Given the description of an element on the screen output the (x, y) to click on. 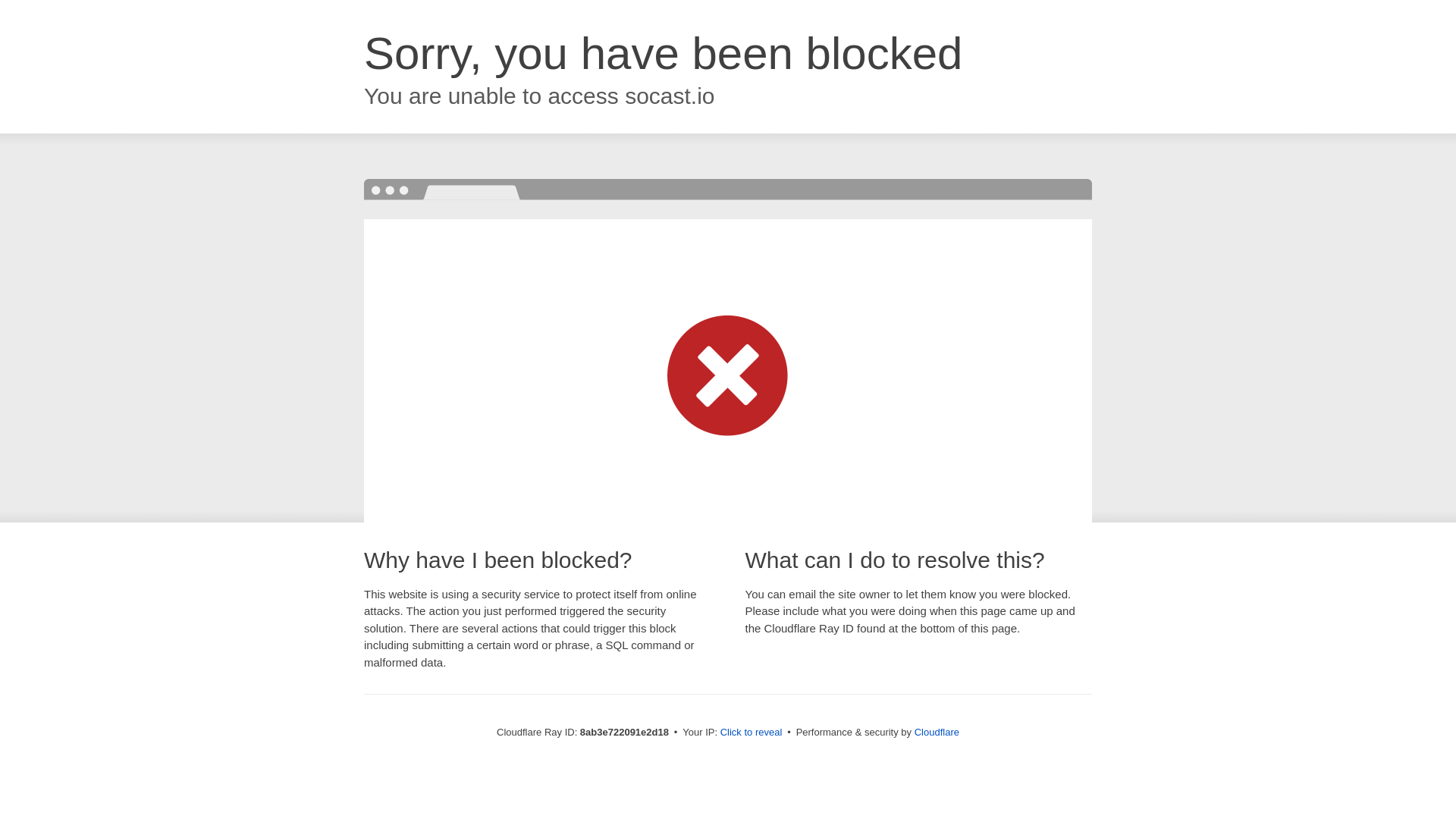
Click to reveal (751, 732)
Cloudflare (936, 731)
